Given the description of an element on the screen output the (x, y) to click on. 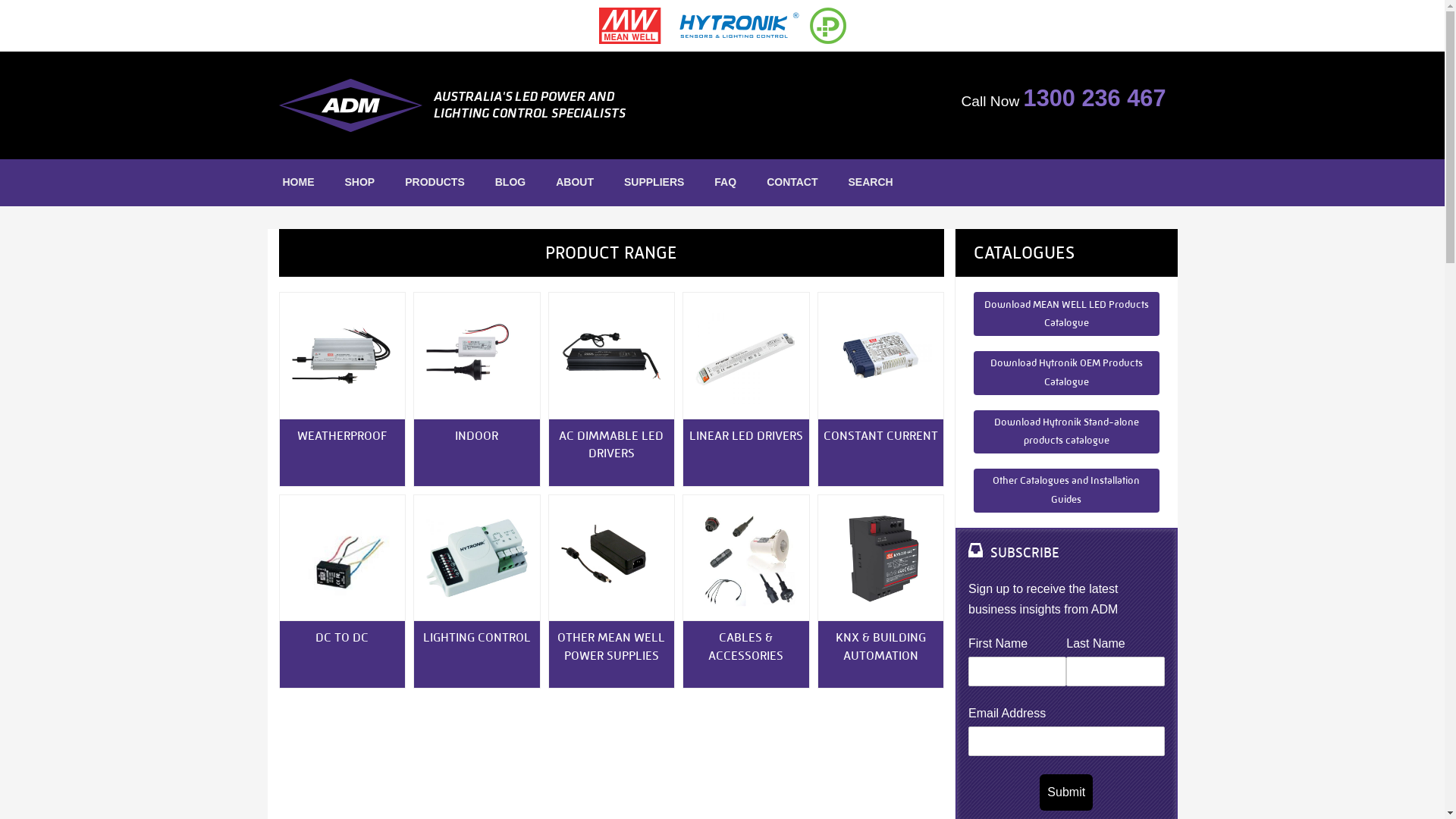
Back to home Element type: hover (493, 104)
LINEAR LED DRIVERS Element type: text (746, 452)
CONSTANT CURRENT Element type: text (880, 452)
AC DIMMABLE LED DRIVERS Element type: text (611, 452)
MEAN WELL DC to DC LED Drivers Element type: hover (354, 570)
Download Hytronik Stand-alone products catalogue Element type: text (1066, 432)
Download Hytronik OEM Products Catalogue Element type: text (1066, 373)
SHOP Element type: text (359, 182)
KNX & BUILDING AUTOMATION Element type: text (880, 654)
MEAN WELL Weather Proof LED Drivers Element type: hover (354, 368)
Mean Well KNX-20E Element type: hover (893, 570)
SUPPLIERS Element type: text (653, 182)
PRODUCTS Element type: text (434, 182)
INDOOR Element type: text (476, 452)
MEAN WELL Indoor LED Drivers Element type: hover (489, 368)
LED Connectors and Accessories Element type: hover (759, 570)
WEATHERPROOF Element type: text (341, 452)
CABLES & ACCESSORIES Element type: text (746, 654)
Mean Well Power Supplies Element type: hover (624, 570)
1300 236 467 Element type: text (1094, 97)
Download MEAN WELL LED Products Catalogue Element type: text (1066, 313)
MEAN WELL constant current LED drivers Element type: hover (893, 368)
Other Catalogues and Installation Guides Element type: text (1066, 490)
BLOG Element type: text (510, 182)
FAQ Element type: text (725, 182)
MEAN WELL - Hytronic - Power Source Element type: hover (722, 25)
DC TO DC Element type: text (341, 654)
CONTACT Element type: text (791, 182)
TRIAC Dimmable LED Drivers Element type: hover (624, 368)
LIGHTING CONTROL Element type: text (476, 654)
Hytronik Sensors Element type: hover (489, 570)
HOME Element type: text (297, 182)
OTHER MEAN WELL POWER SUPPLIES Element type: text (611, 654)
SEARCH Element type: text (870, 182)
Submit Element type: text (1065, 791)
Hytronik Linear LED Drivers Element type: hover (759, 368)
ABOUT Element type: text (574, 182)
Skip to main content Element type: text (54, 0)
